Given the description of an element on the screen output the (x, y) to click on. 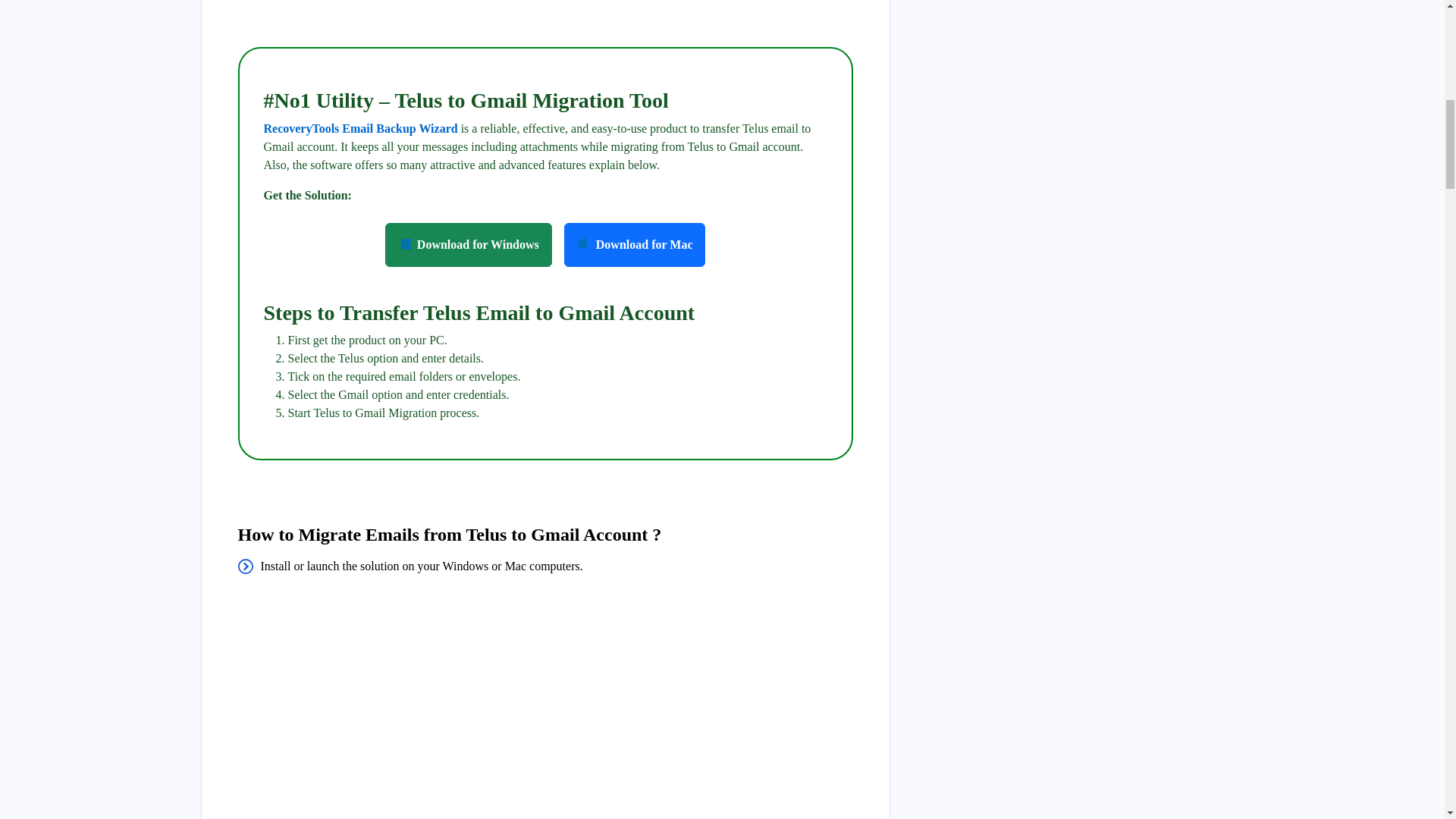
Download for Windows (468, 244)
Download for Mac (635, 244)
RecoveryTools Email Backup Wizard (360, 128)
